Given the description of an element on the screen output the (x, y) to click on. 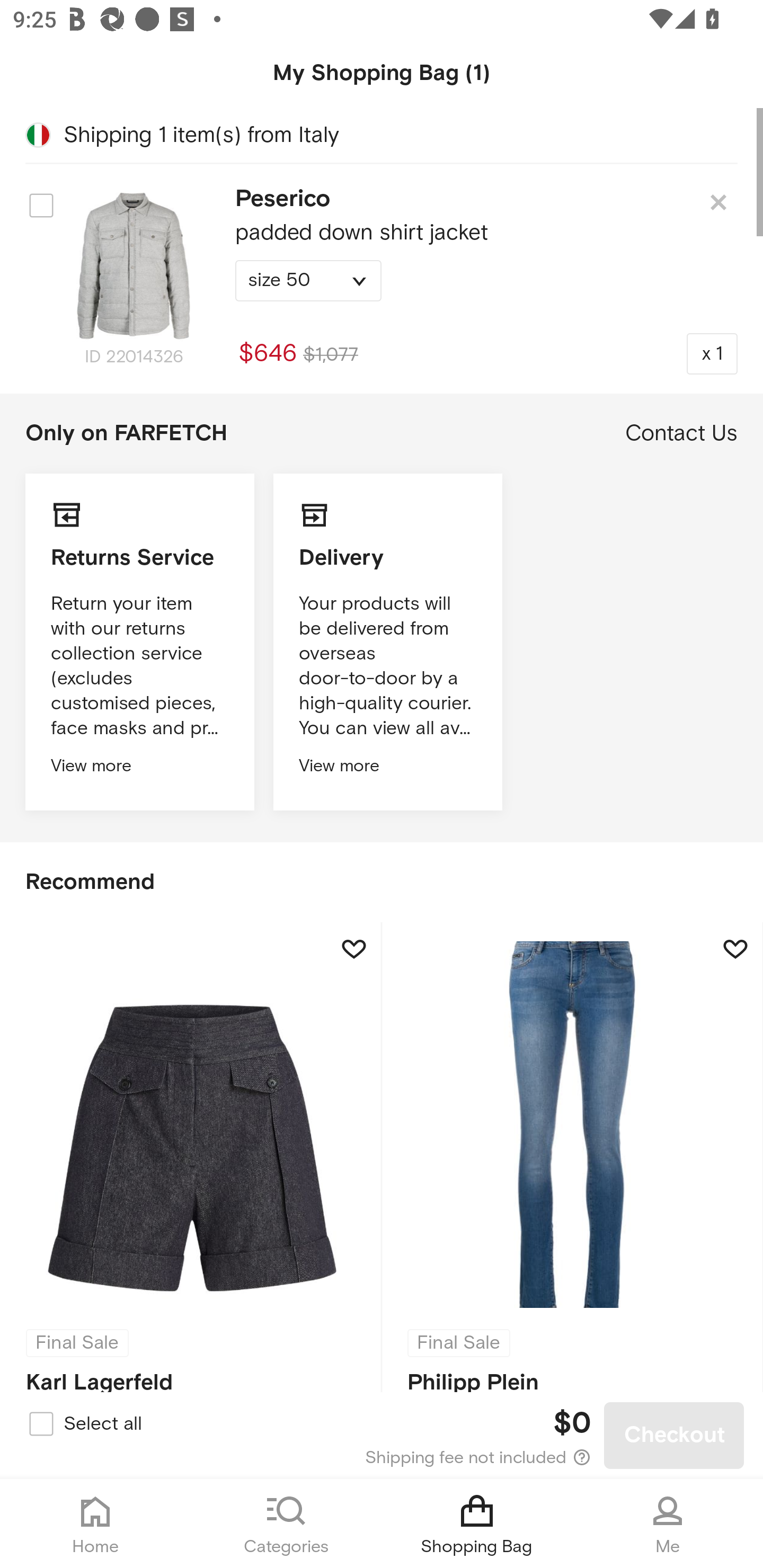
size 50 (308, 280)
x 1 (711, 353)
Contact Us (680, 433)
$0 Shipping fee not included (382, 1435)
Checkout (673, 1435)
Home (95, 1523)
Categories (285, 1523)
Me (667, 1523)
